Given the description of an element on the screen output the (x, y) to click on. 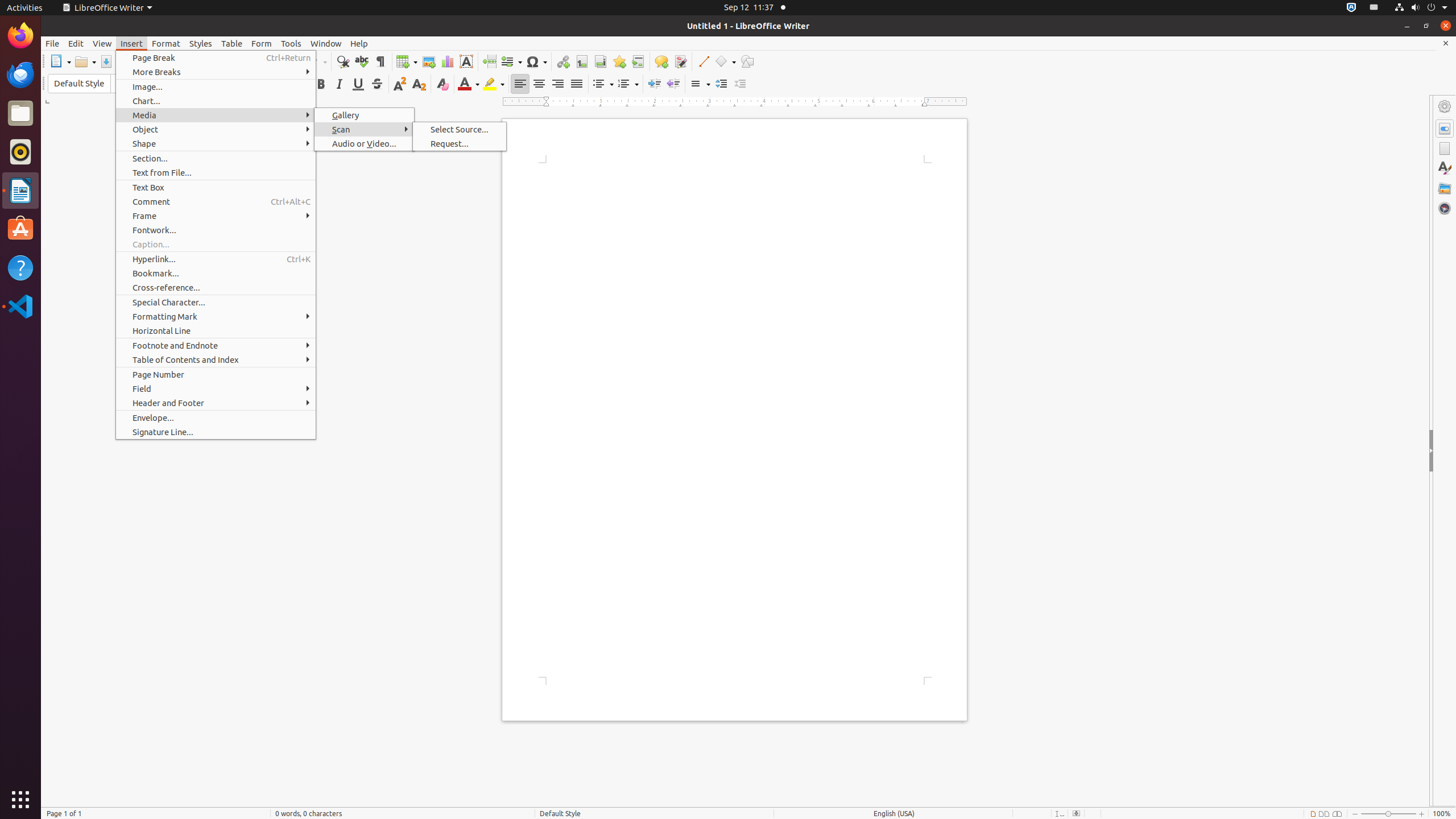
Highlight Color Element type: push-button (493, 83)
Table Element type: menu (231, 43)
Styles Element type: menu (200, 43)
Footnote and Endnote Element type: menu (215, 345)
Page Number Element type: menu-item (215, 374)
